Given the description of an element on the screen output the (x, y) to click on. 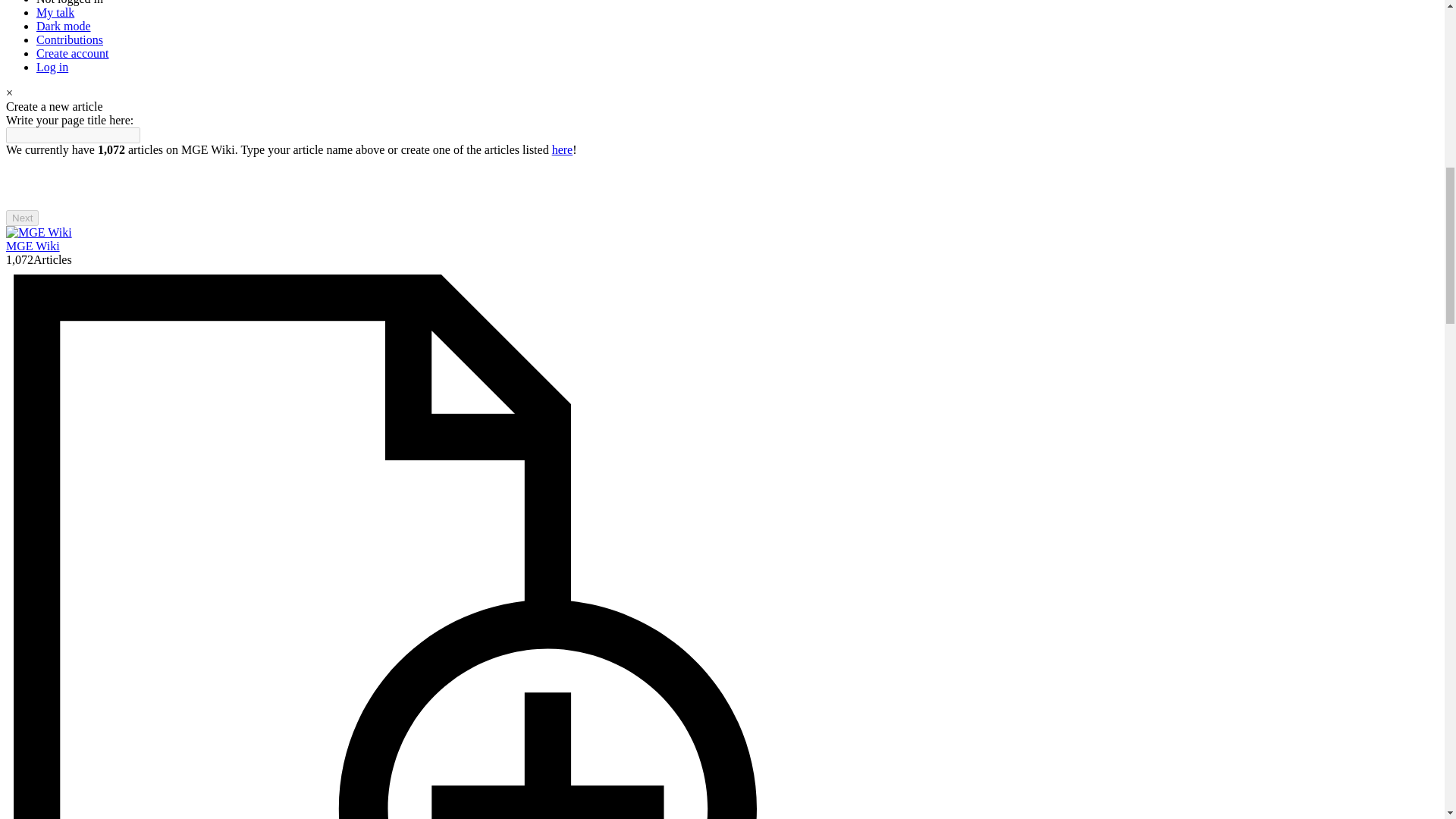
Special:WantedPages (562, 149)
The user page for the IP address you are editing as (69, 2)
Next (22, 217)
Turn dark mode on (63, 25)
A list of edits made from this IP address (69, 39)
You are encouraged to log in; however, it is not mandatory (52, 66)
Discussion about edits from this IP address (55, 11)
Visit the main page (38, 232)
